Given the description of an element on the screen output the (x, y) to click on. 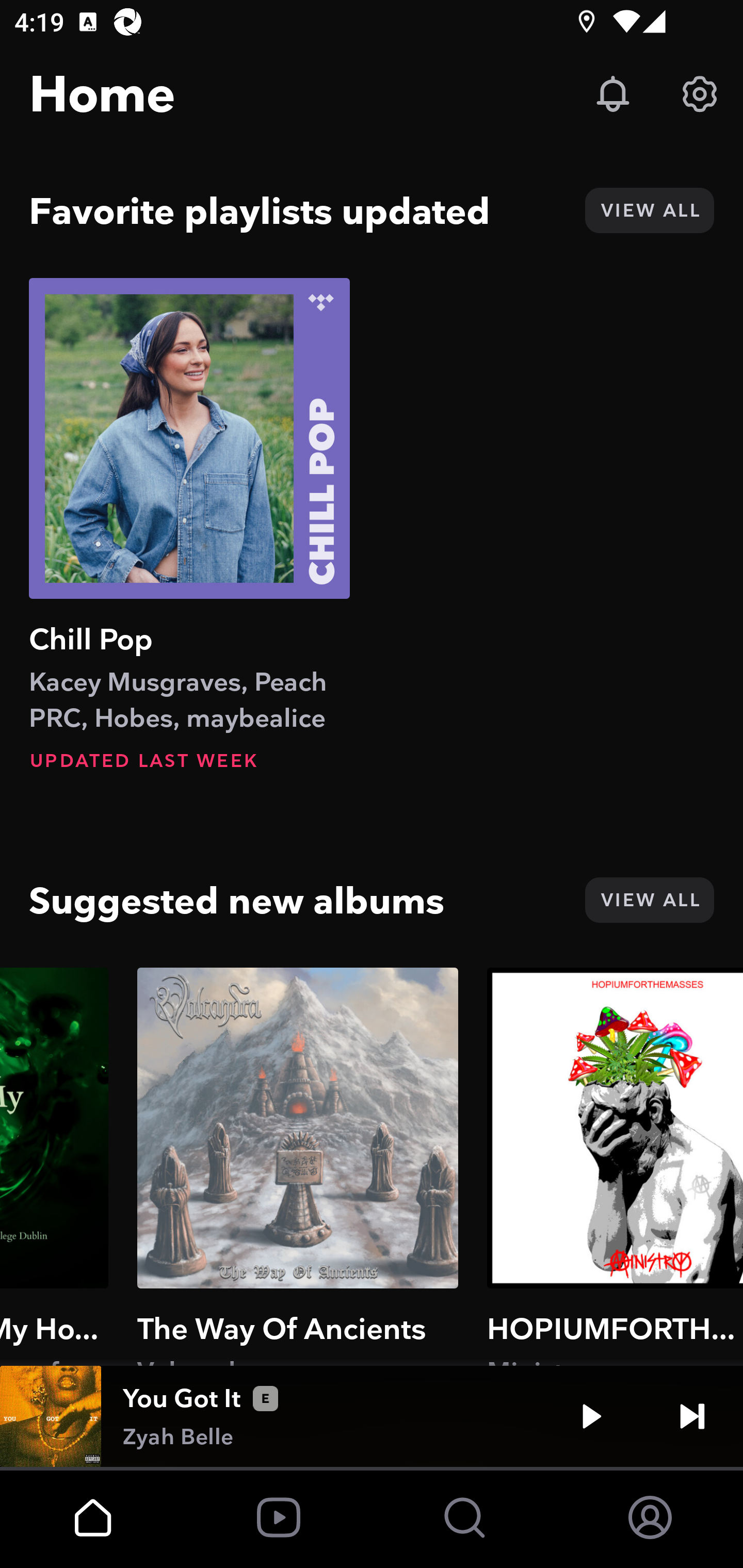
Updates (612, 93)
Settings (699, 93)
VIEW ALL (649, 210)
VIEW ALL (649, 899)
The Way Of Ancients Volcandra (297, 1166)
HOPIUMFORTHEMASSES Ministry (615, 1166)
You Got It    Zyah Belle Play (371, 1416)
Play (590, 1416)
